Given the description of an element on the screen output the (x, y) to click on. 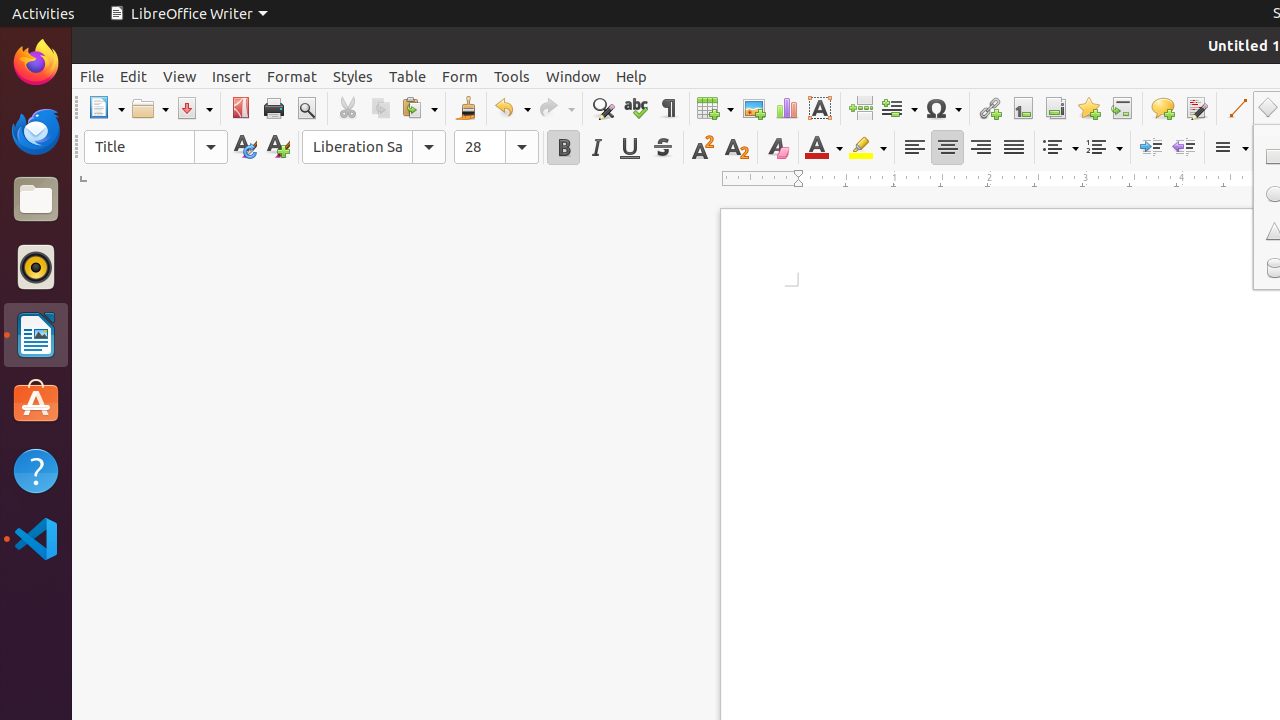
Undo Element type: push-button (512, 108)
Subscript Element type: toggle-button (736, 147)
Save Element type: push-button (194, 108)
Clear Element type: push-button (777, 147)
Superscript Element type: toggle-button (703, 147)
